Given the description of an element on the screen output the (x, y) to click on. 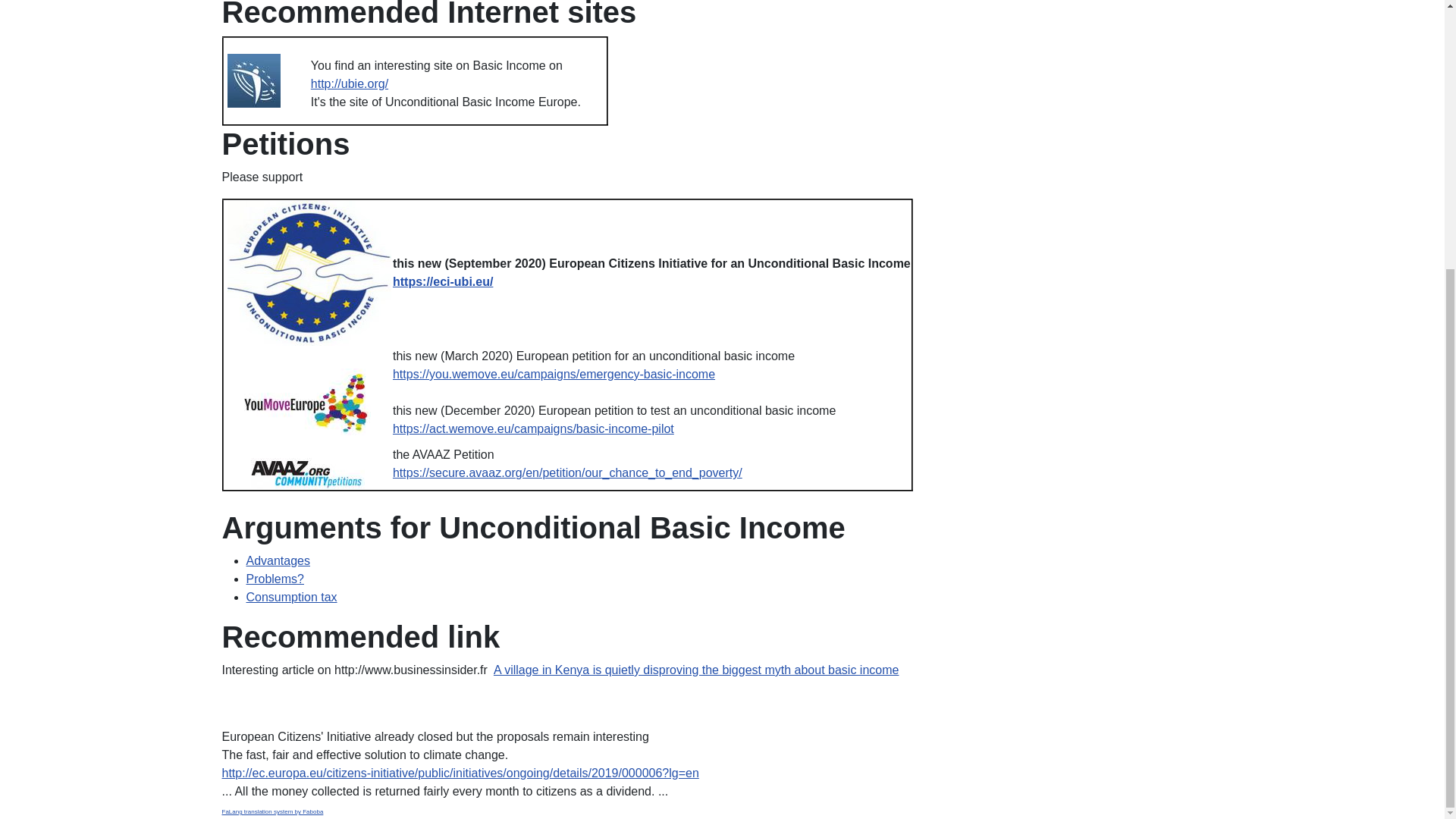
European Citizens Initiataive (309, 272)
Consumption tax (291, 596)
Problems? (274, 578)
FaLang translation system by Faboba (272, 811)
You Move Europe (307, 401)
Advantages (278, 560)
UBIE.org (254, 80)
Avaaz (307, 472)
